Given the description of an element on the screen output the (x, y) to click on. 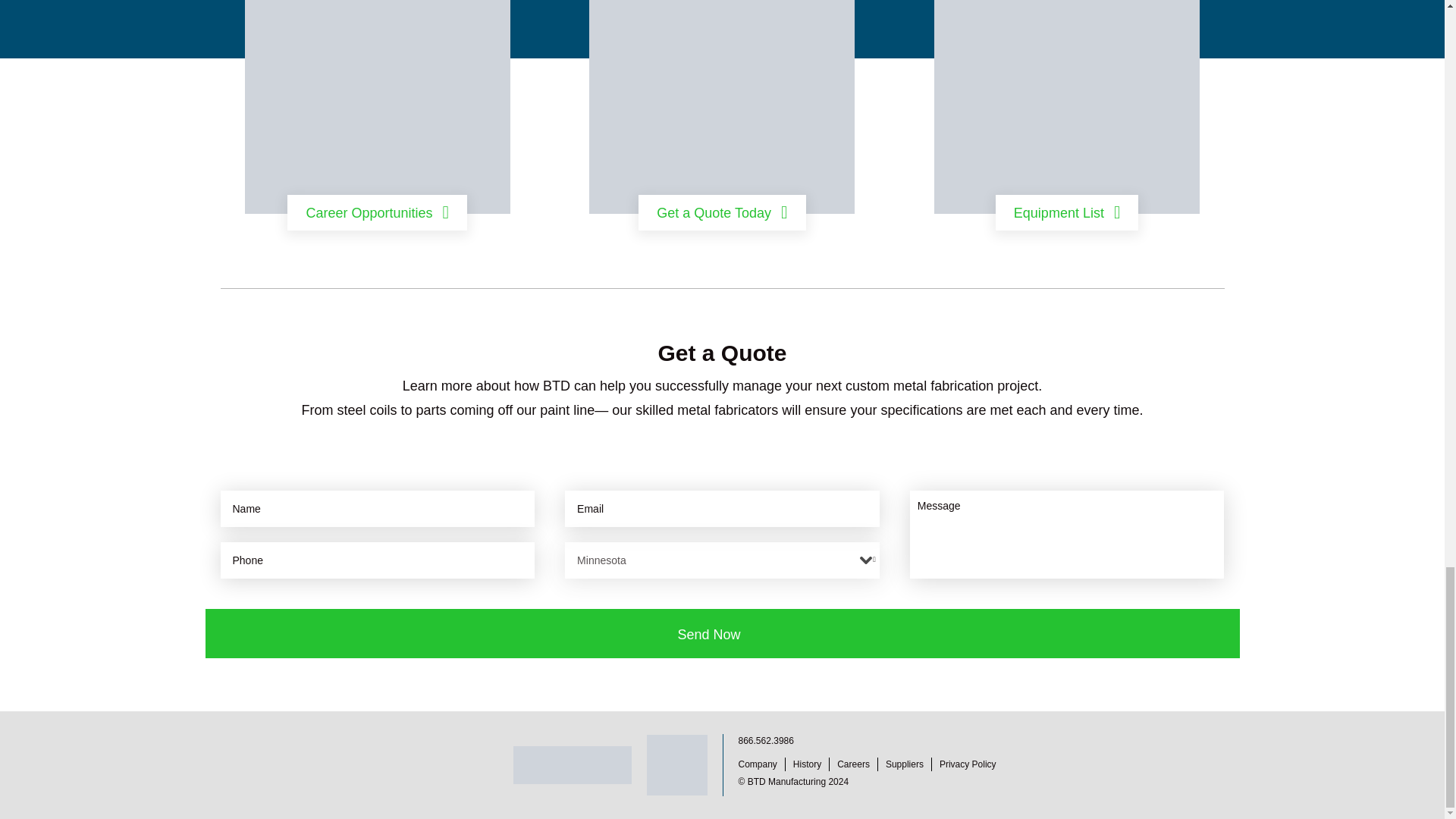
pipeline-badge (676, 764)
Send Now (722, 633)
BTD Request a Quote (721, 106)
BTD mfg career opportunities (377, 106)
btd-mfg-logo (571, 764)
BTD Mfg Equipment List (1066, 106)
Career Opportunities (376, 212)
Get a Quote Today (722, 212)
